Given the description of an element on the screen output the (x, y) to click on. 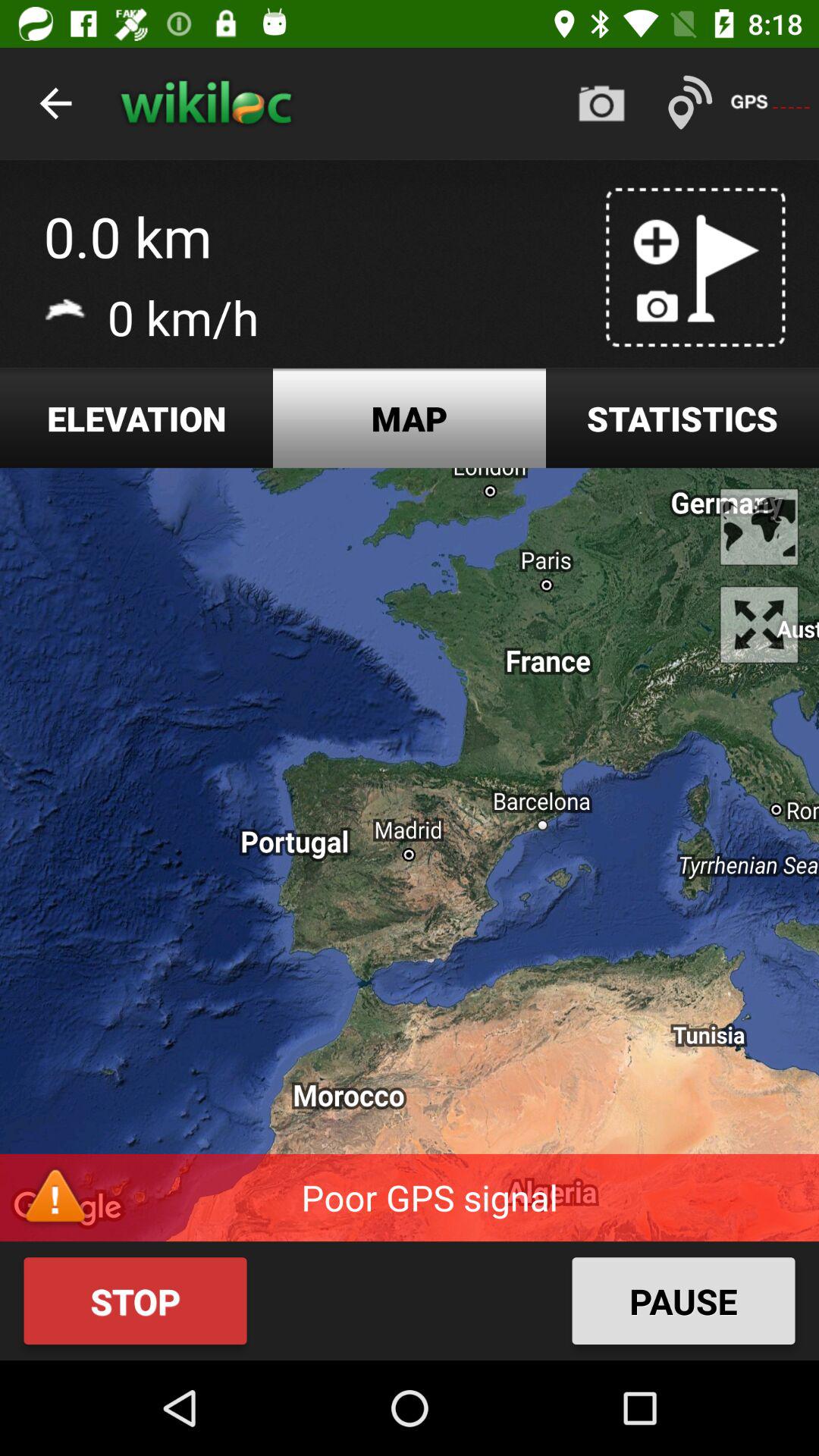
flip to the elevation button (136, 418)
